Given the description of an element on the screen output the (x, y) to click on. 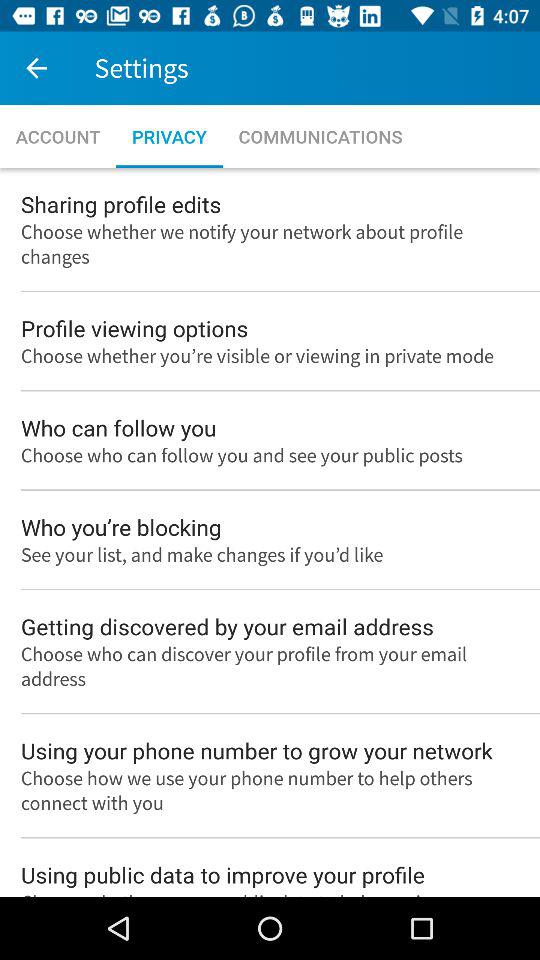
select the icon next to settings item (36, 68)
